Given the description of an element on the screen output the (x, y) to click on. 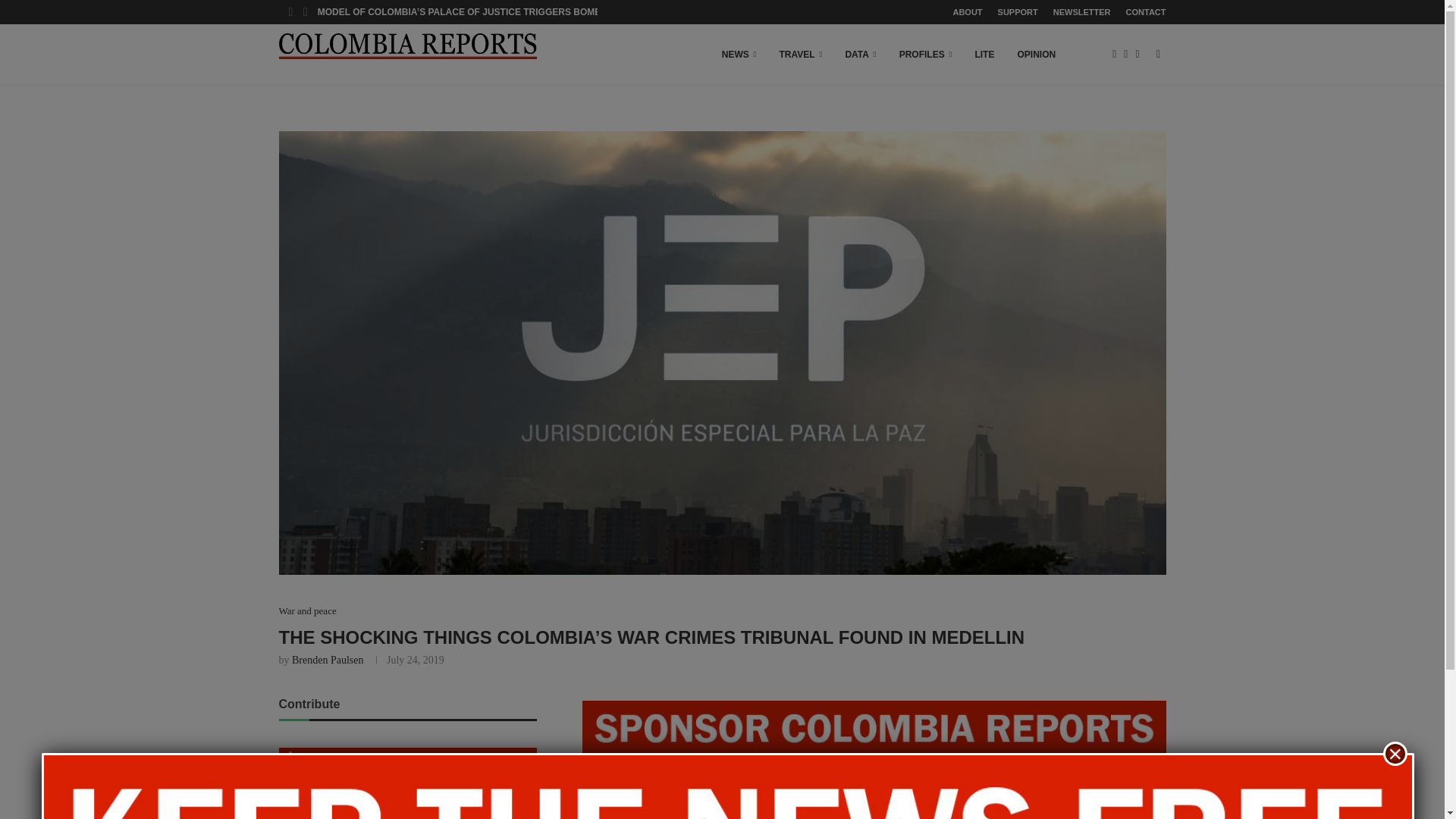
NEWS (739, 54)
CONTACT (1145, 12)
NEWSLETTER (1081, 12)
SUPPORT (1017, 12)
ABOUT (966, 12)
TRAVEL (801, 54)
